Given the description of an element on the screen output the (x, y) to click on. 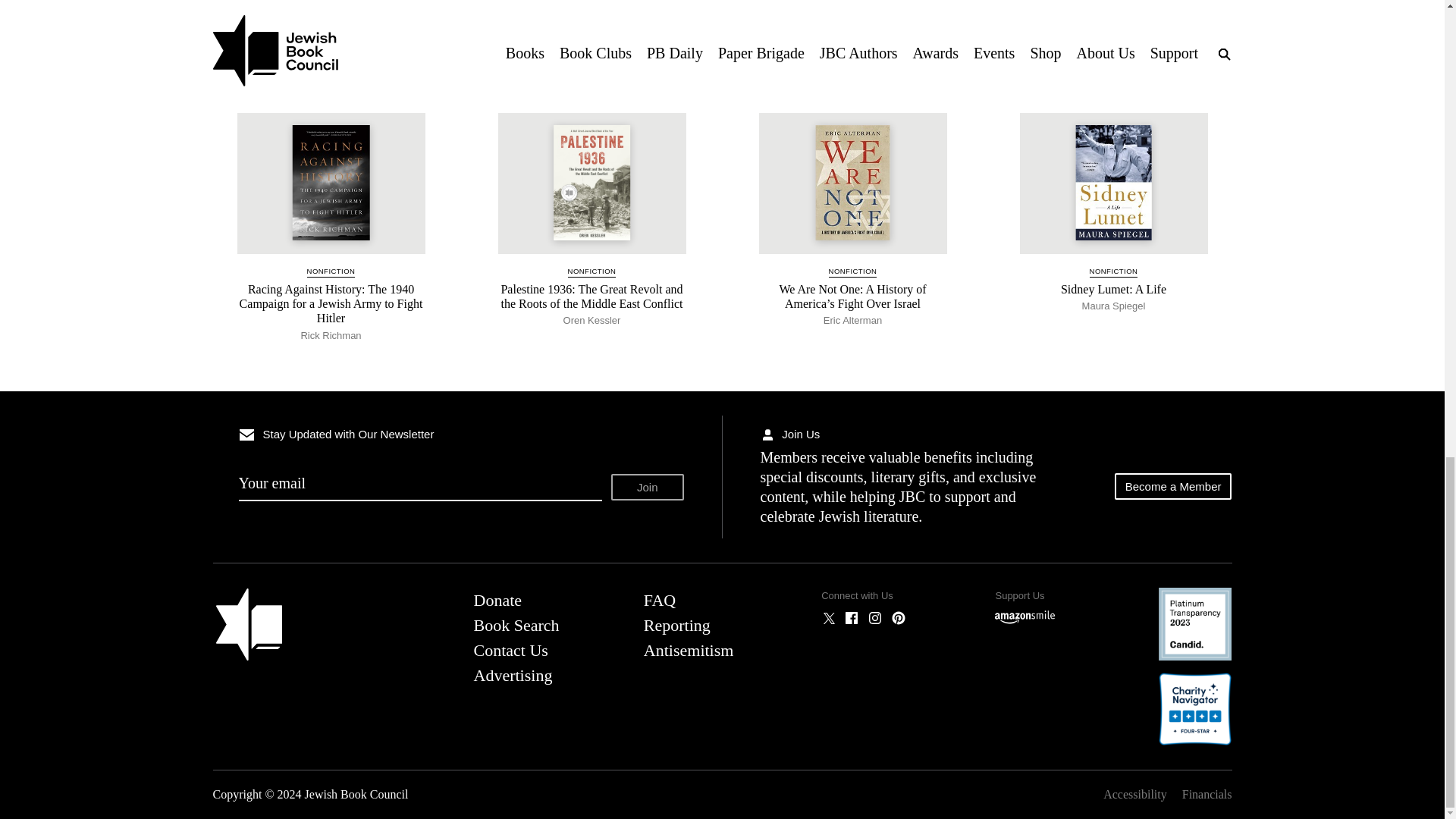
Join (647, 487)
